Given the description of an element on the screen output the (x, y) to click on. 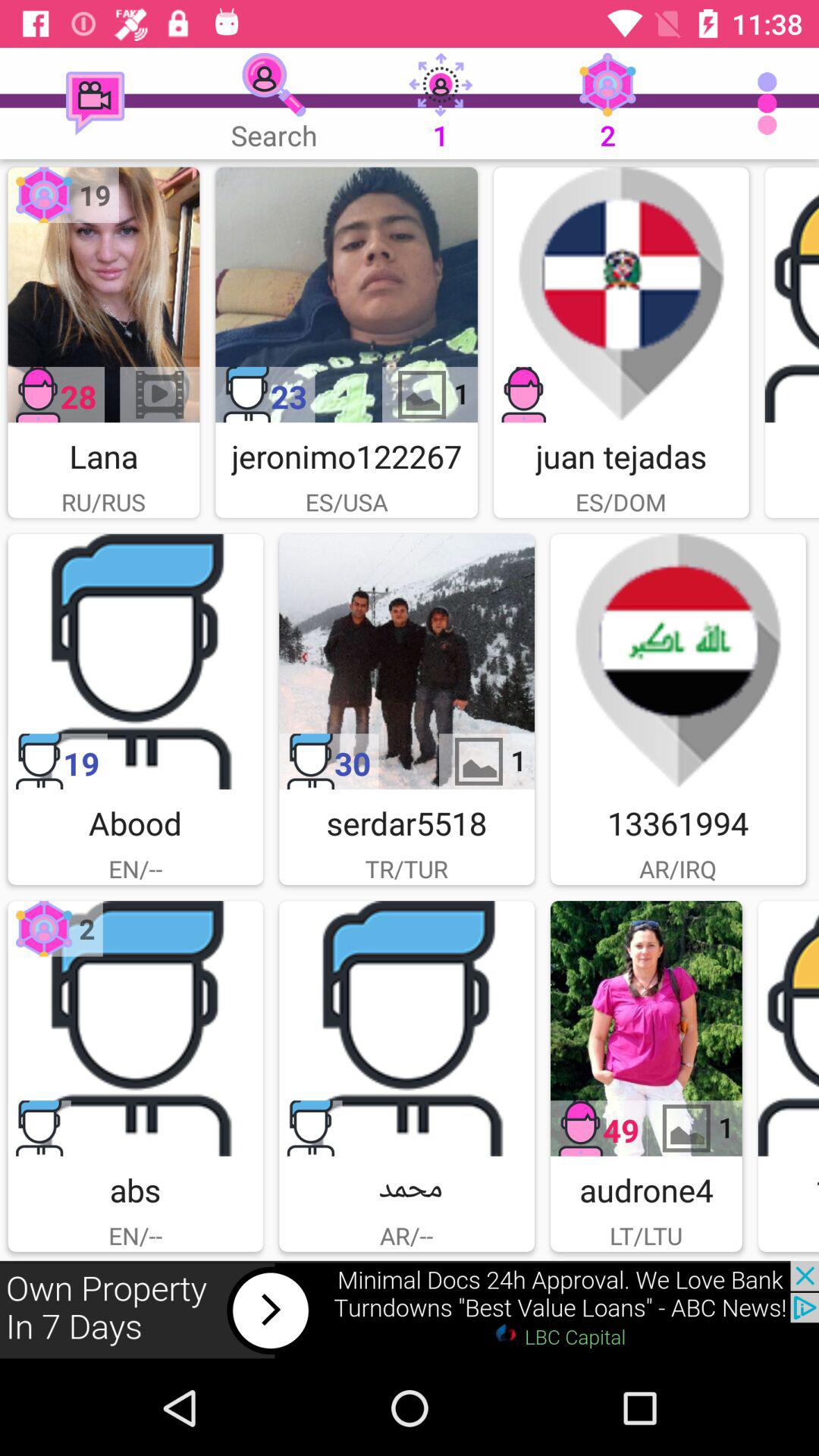
abood (135, 661)
